Given the description of an element on the screen output the (x, y) to click on. 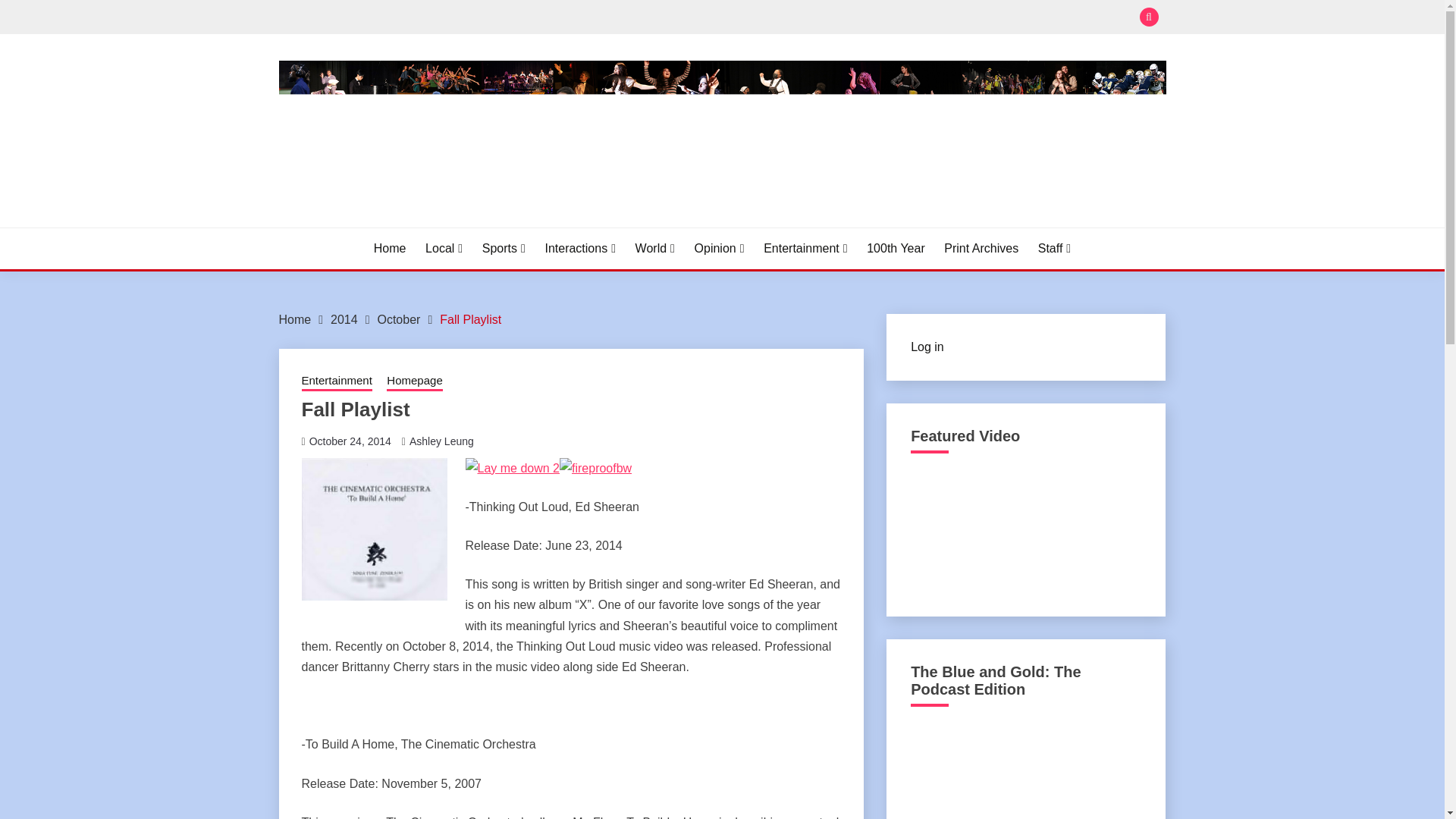
YouTube video player (1024, 530)
Fall Playlist (469, 318)
2014 (344, 318)
THE BLUE AND GOLD (426, 224)
Home (390, 248)
Staff (1054, 248)
October (398, 318)
100th Year (895, 248)
Print Archives (980, 248)
World (654, 248)
